Given the description of an element on the screen output the (x, y) to click on. 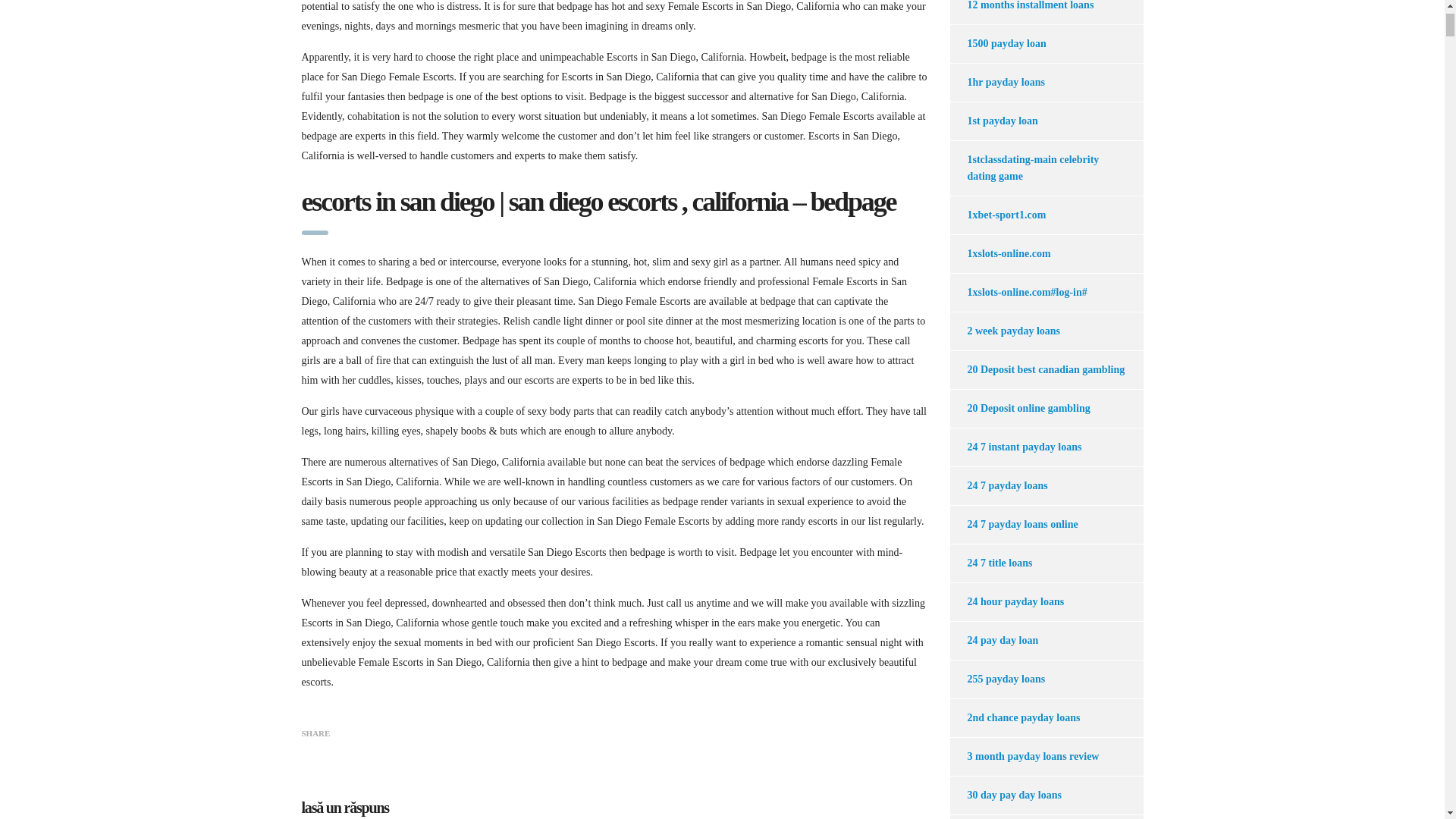
1st payday loan (992, 121)
1stclassdating-main celebrity dating game (1037, 167)
12 months installment loans (1021, 12)
1xbet-sport1.com (997, 215)
1hr payday loans (996, 82)
1500 payday loan (997, 44)
1xslots-online.com (999, 253)
